Given the description of an element on the screen output the (x, y) to click on. 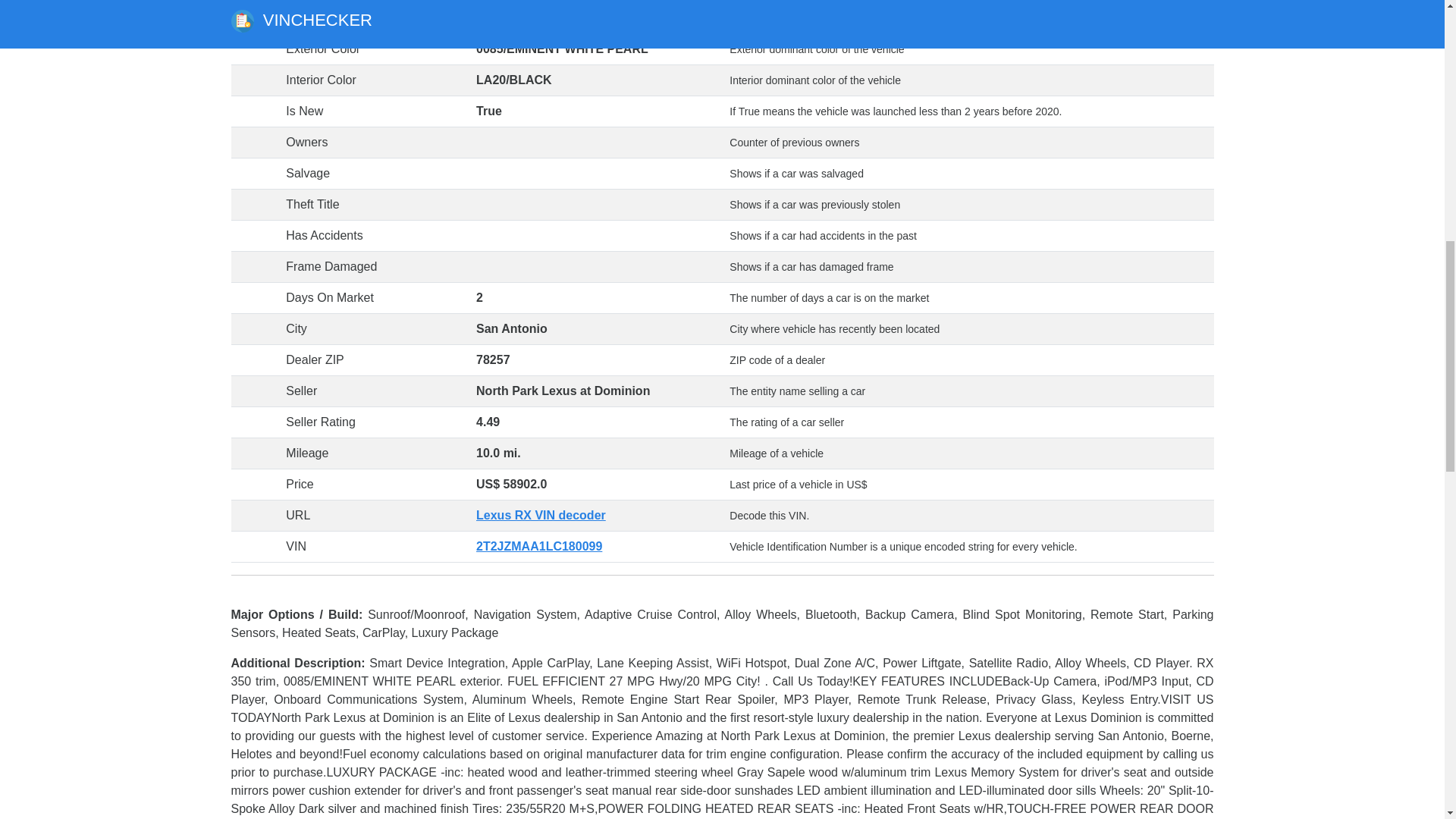
2T2JZMAA1LC180099 (539, 545)
Get Report for 2T2JZMAA1LC180099 (539, 545)
Lexus RX VIN decoder (540, 514)
Lexus RX VIN decoder (540, 514)
